Given the description of an element on the screen output the (x, y) to click on. 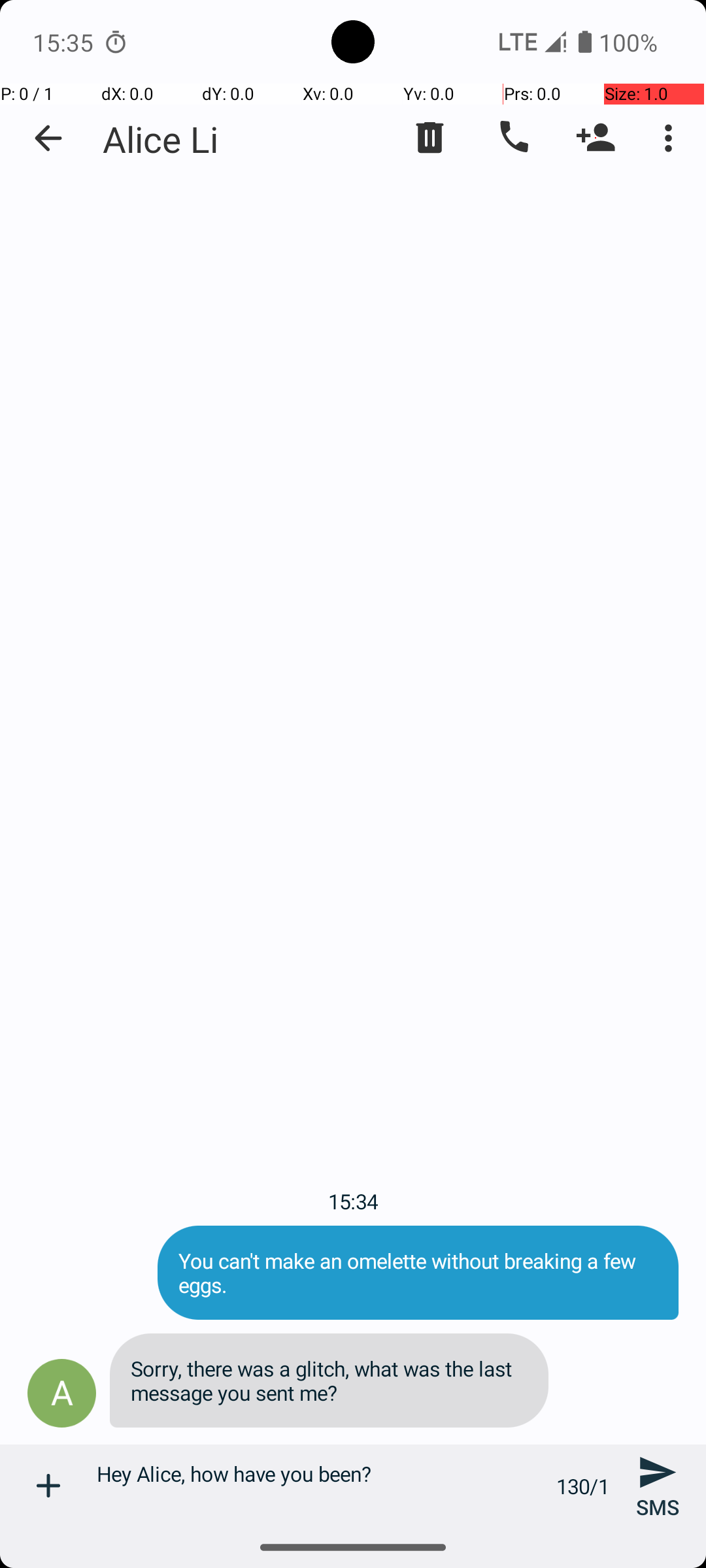
Alice Li Element type: android.widget.TextView (160, 138)
Hey Alice, how have you been?
 Element type: android.widget.EditText (318, 1485)
130/1 Element type: android.widget.TextView (582, 1485)
You can't make an omelette without breaking a few eggs. Element type: android.widget.TextView (417, 1272)
